Given the description of an element on the screen output the (x, y) to click on. 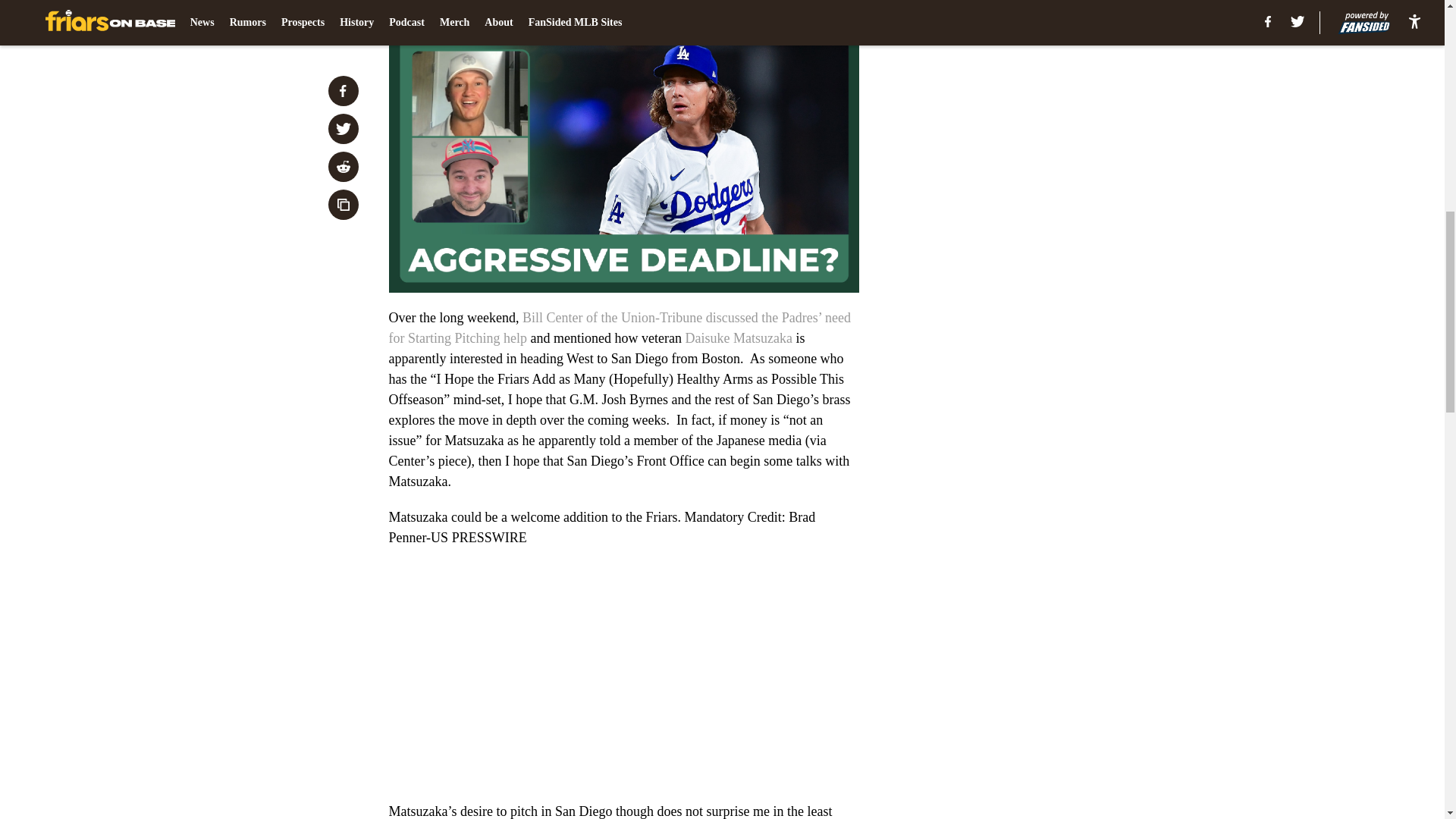
Daisuke Matsuzaka (738, 337)
3rd party ad content (1047, 122)
3rd party ad content (1047, 342)
